Given the description of an element on the screen output the (x, y) to click on. 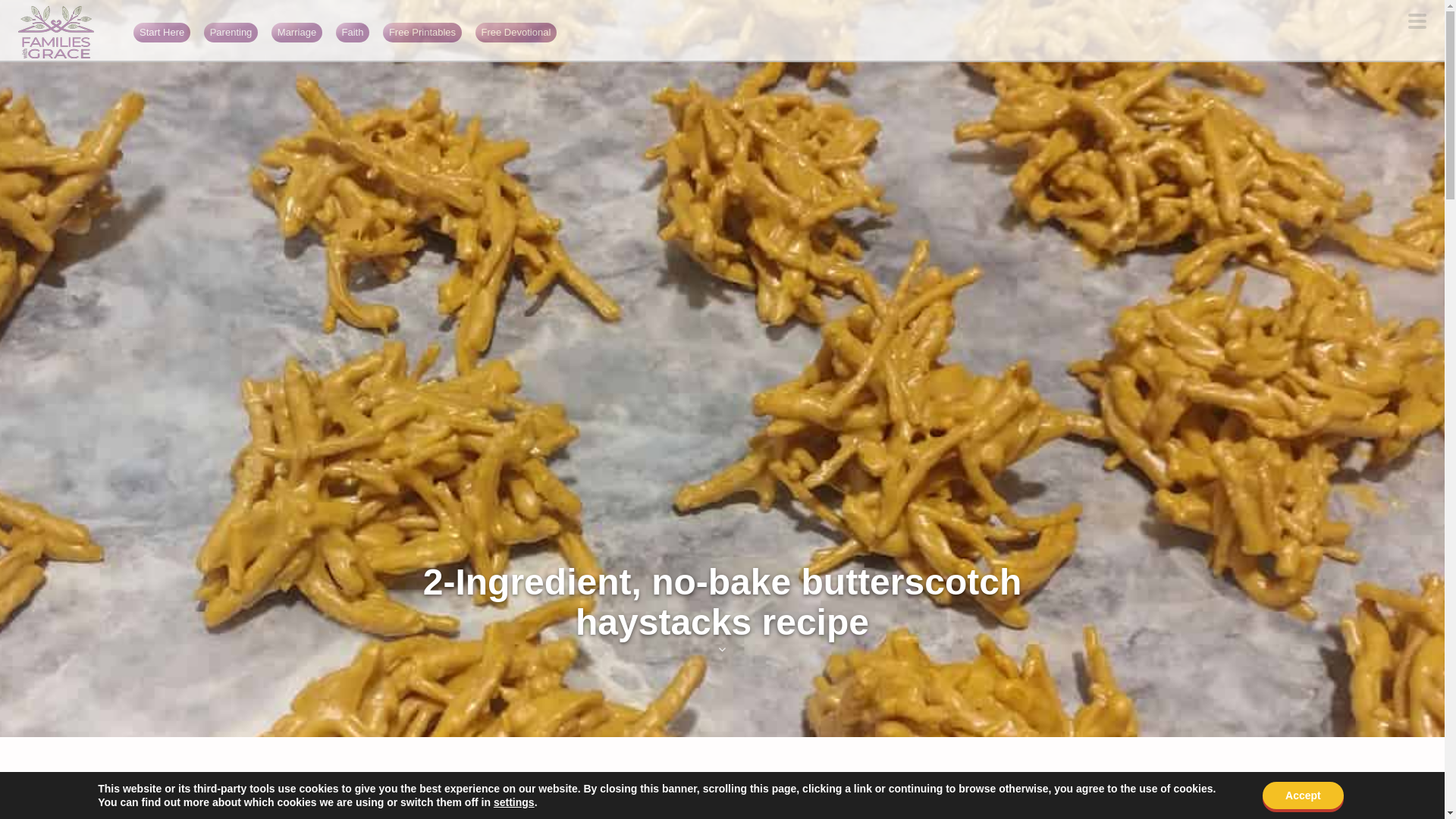
2-Ingredient, no-bake butterscotch haystacks recipe (722, 608)
Marriage (296, 31)
Jump to Recipe (213, 786)
primary menu (1416, 22)
Parenting (230, 31)
Faith (353, 31)
Free Printables (421, 31)
Free Devotional (516, 31)
Start Here (161, 31)
Print Recipe (325, 786)
